Given the description of an element on the screen output the (x, y) to click on. 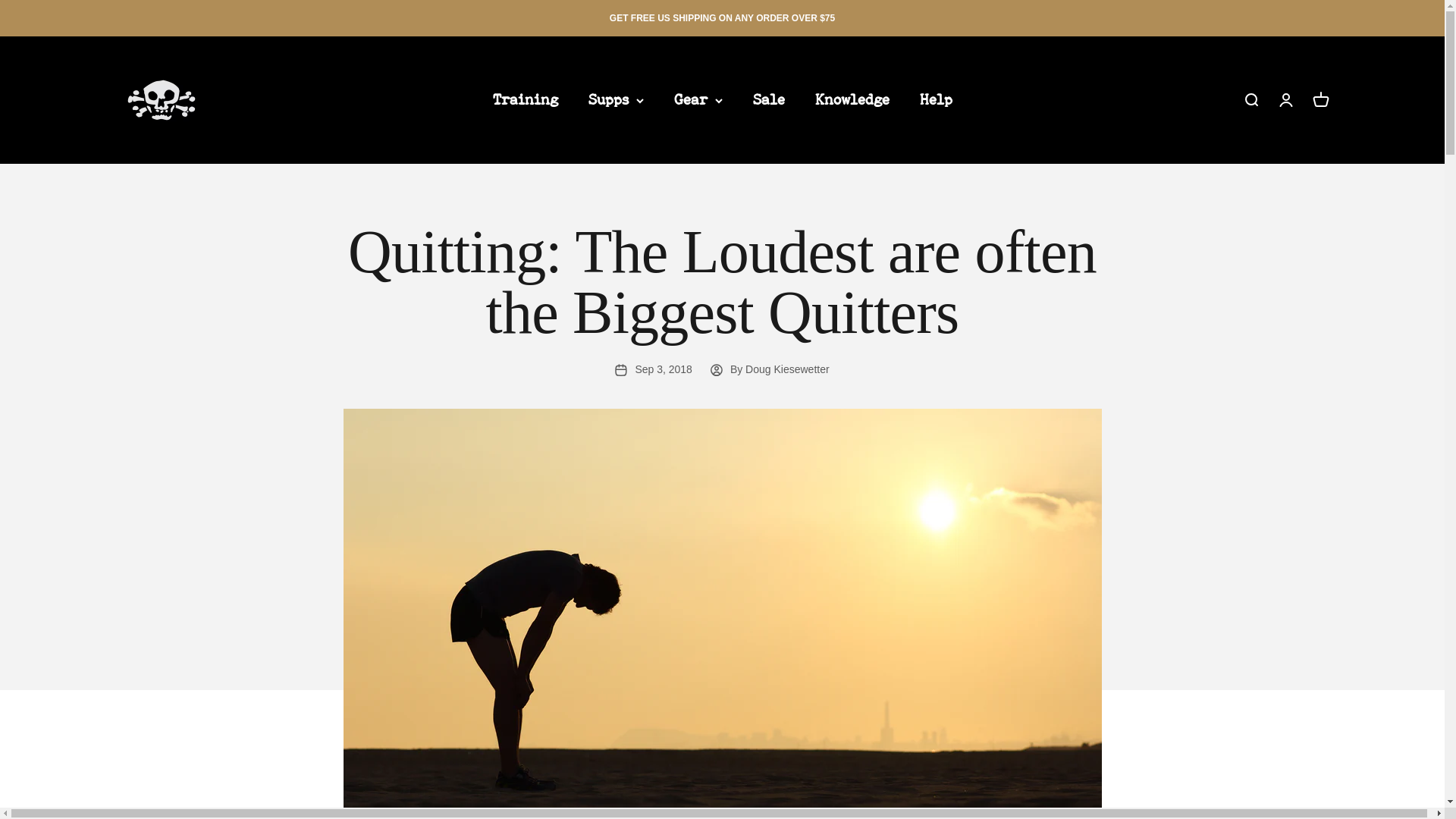
Sale (768, 99)
Help (935, 99)
Open search (1250, 99)
SOFLETE (160, 99)
Knowledge (850, 99)
Open cart (1319, 99)
Training (525, 99)
Open account page (1285, 99)
